Given the description of an element on the screen output the (x, y) to click on. 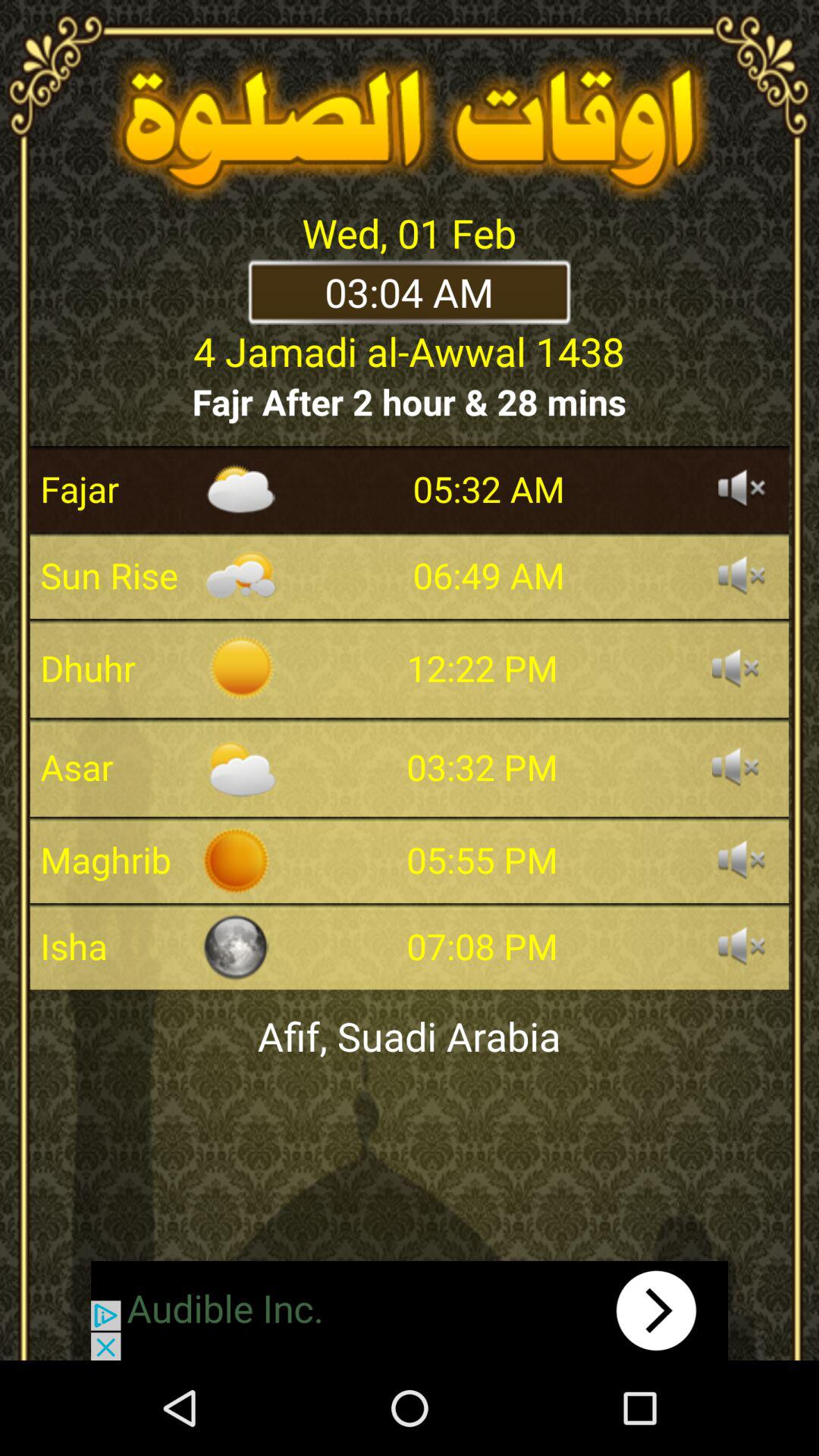
mute (741, 859)
